Given the description of an element on the screen output the (x, y) to click on. 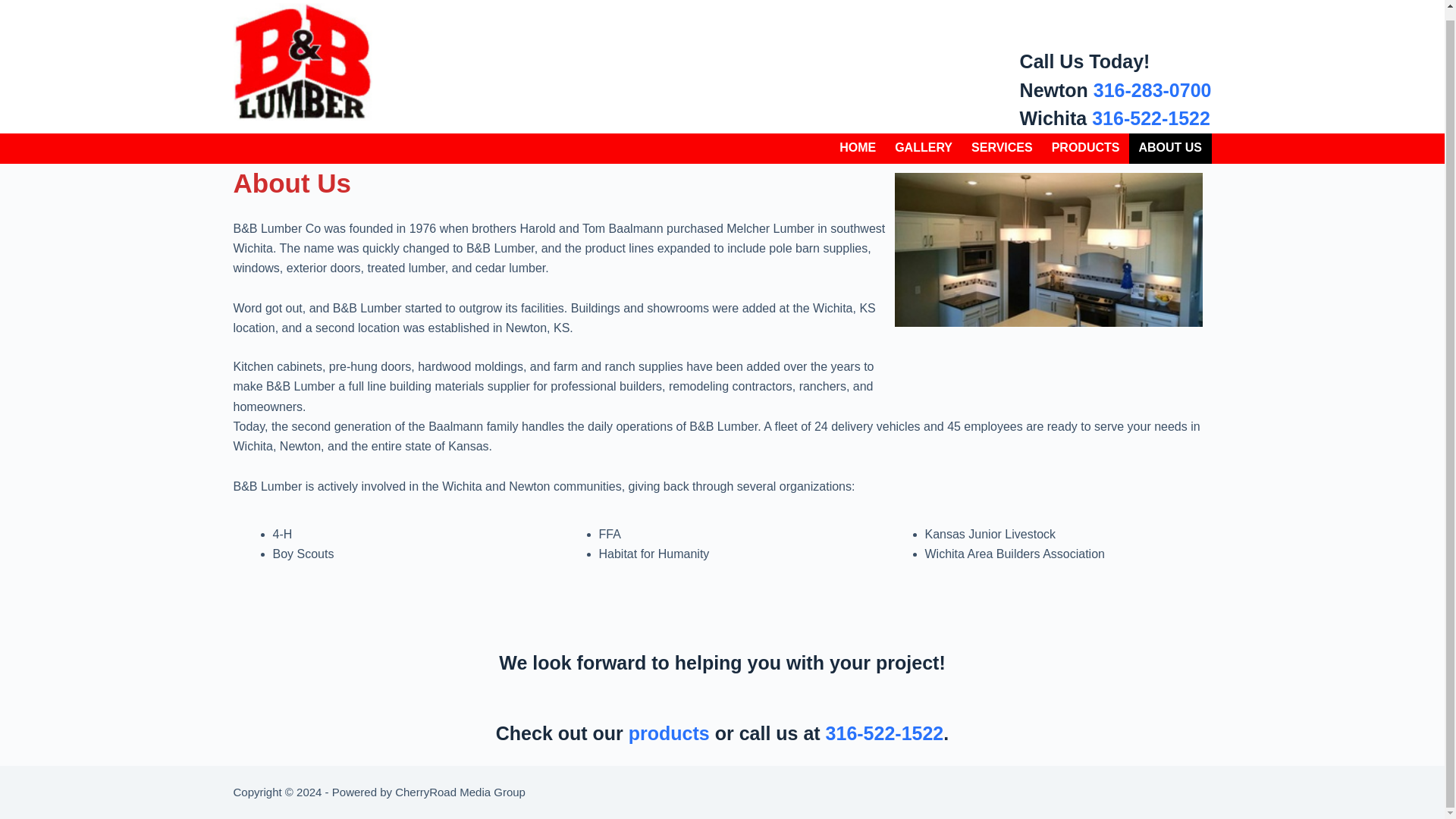
HOME (857, 148)
GALLERY (923, 148)
316-522-1522 (884, 732)
PRODUCTS (1085, 148)
316-522-1522 (1150, 117)
ABOUT US (1170, 148)
Skip to content (15, 2)
316-283-0700 (1152, 88)
SERVICES (1002, 148)
products (669, 732)
CherryRoad Media Group (459, 791)
